Given the description of an element on the screen output the (x, y) to click on. 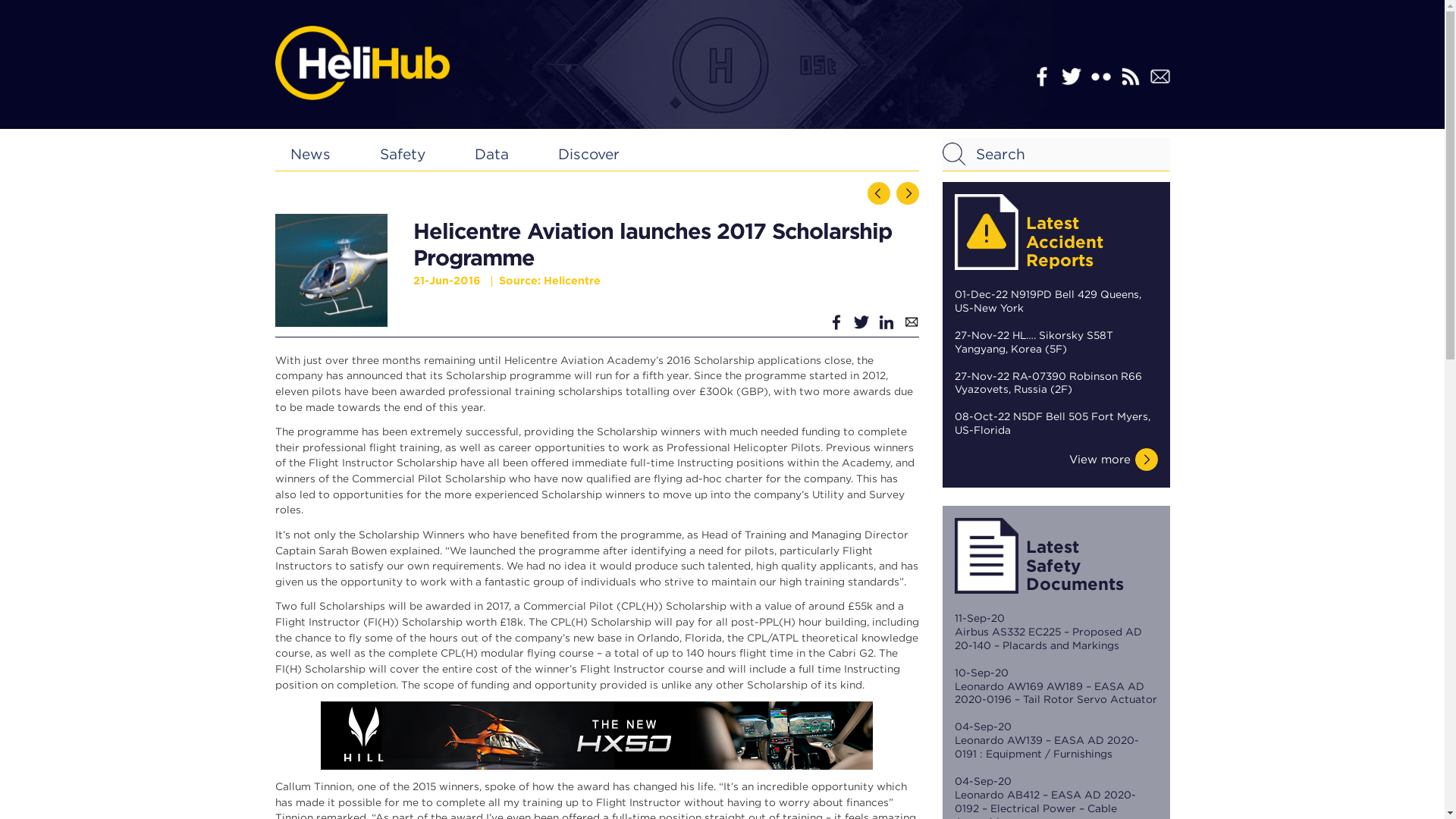
News (310, 154)
Facebook (1040, 76)
HeliHub.com (361, 62)
Safety (401, 154)
Data (492, 154)
RSS (1130, 76)
Discover (588, 154)
Helicentre Aviation launches 2017 Scholarship Programme (331, 269)
Subscribe (1159, 76)
Twitter (1071, 76)
Flickr (1099, 76)
